Given the description of an element on the screen output the (x, y) to click on. 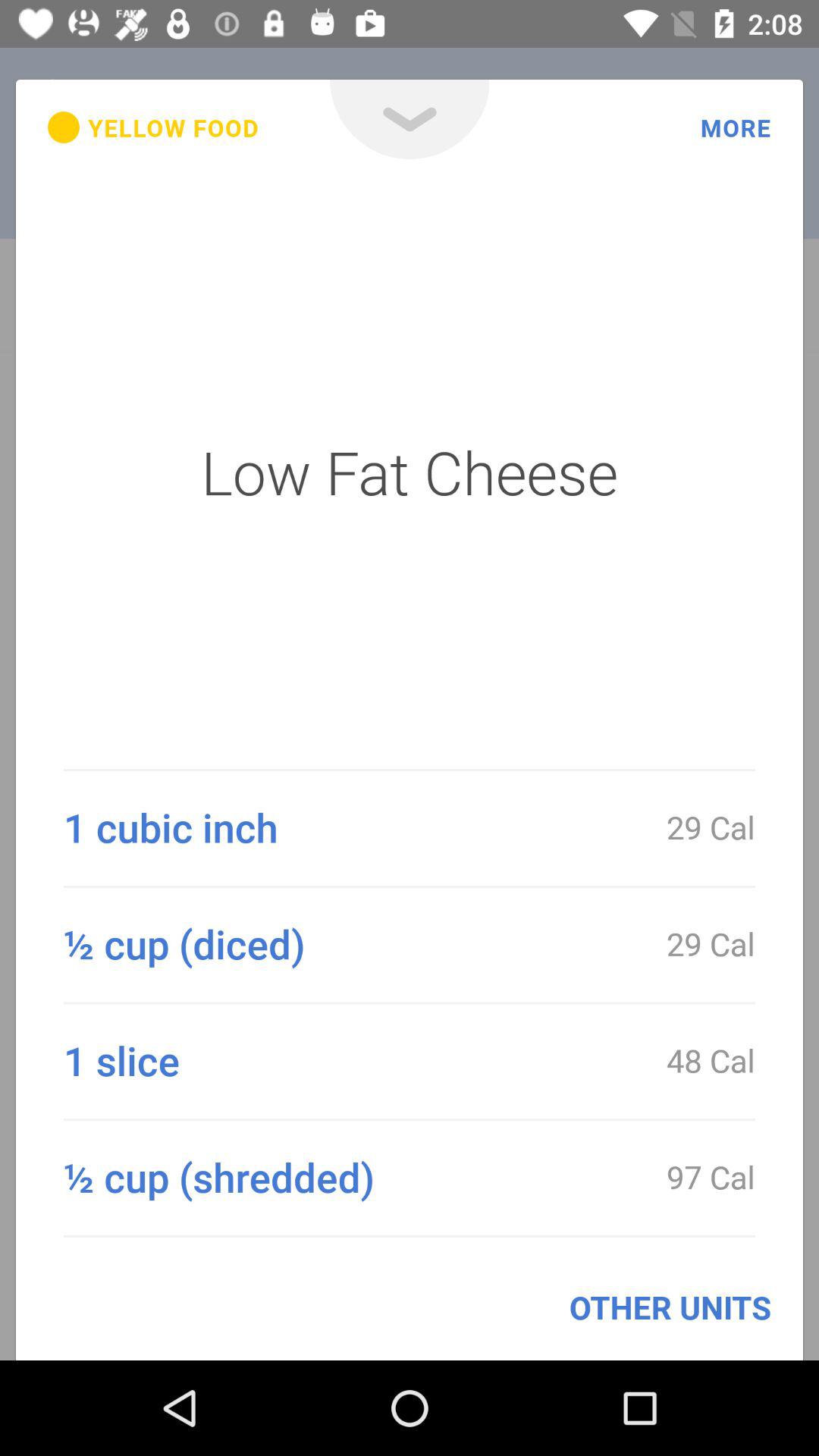
press item to the left of more (409, 119)
